Given the description of an element on the screen output the (x, y) to click on. 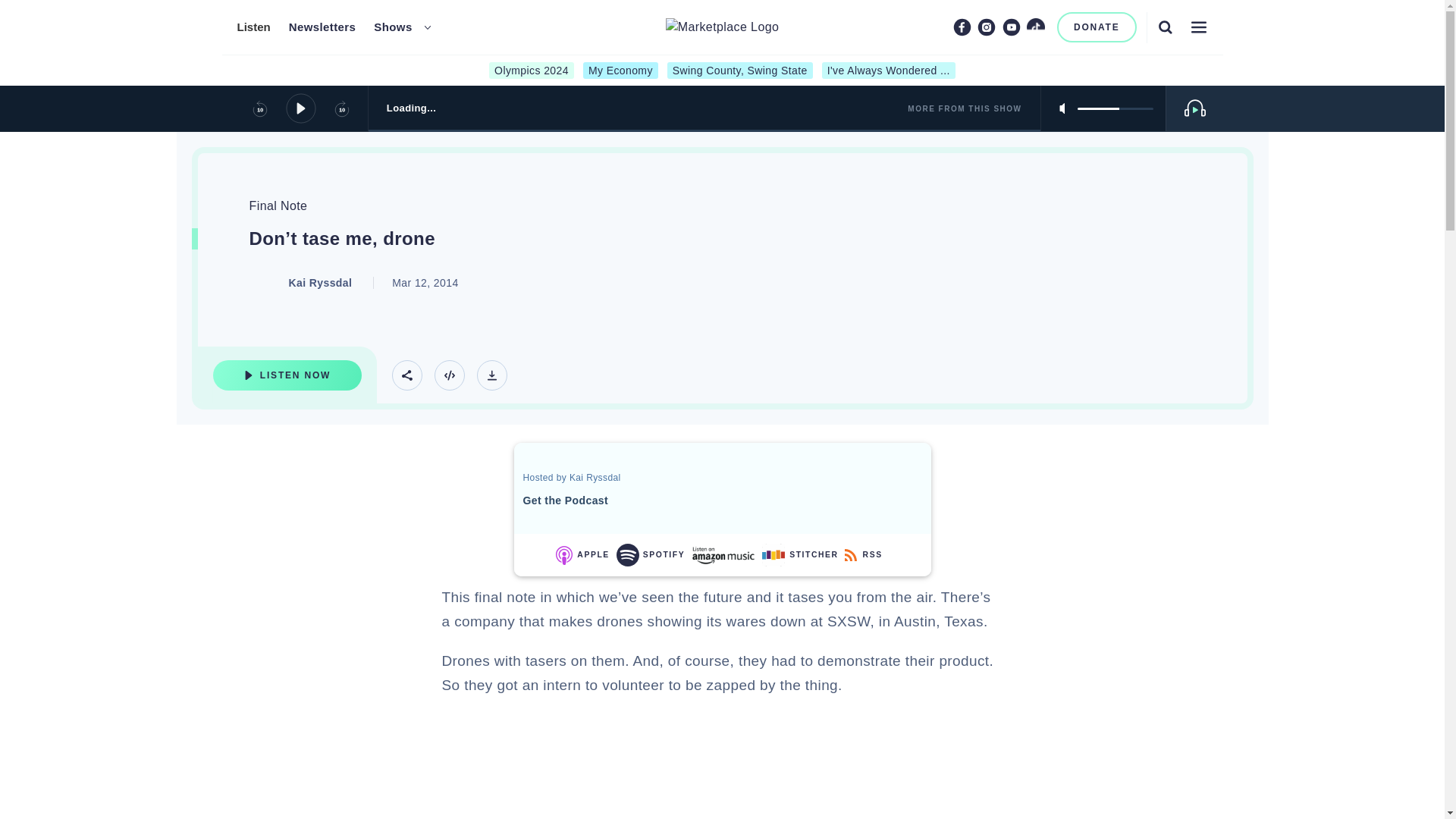
Listen (252, 26)
Download Track (491, 374)
Shows (393, 26)
TikTok (1035, 27)
Newsletters (322, 27)
Instagram (985, 27)
Youtube (1011, 27)
volume (1115, 108)
Facebook (962, 27)
Search (1164, 27)
